Given the description of an element on the screen output the (x, y) to click on. 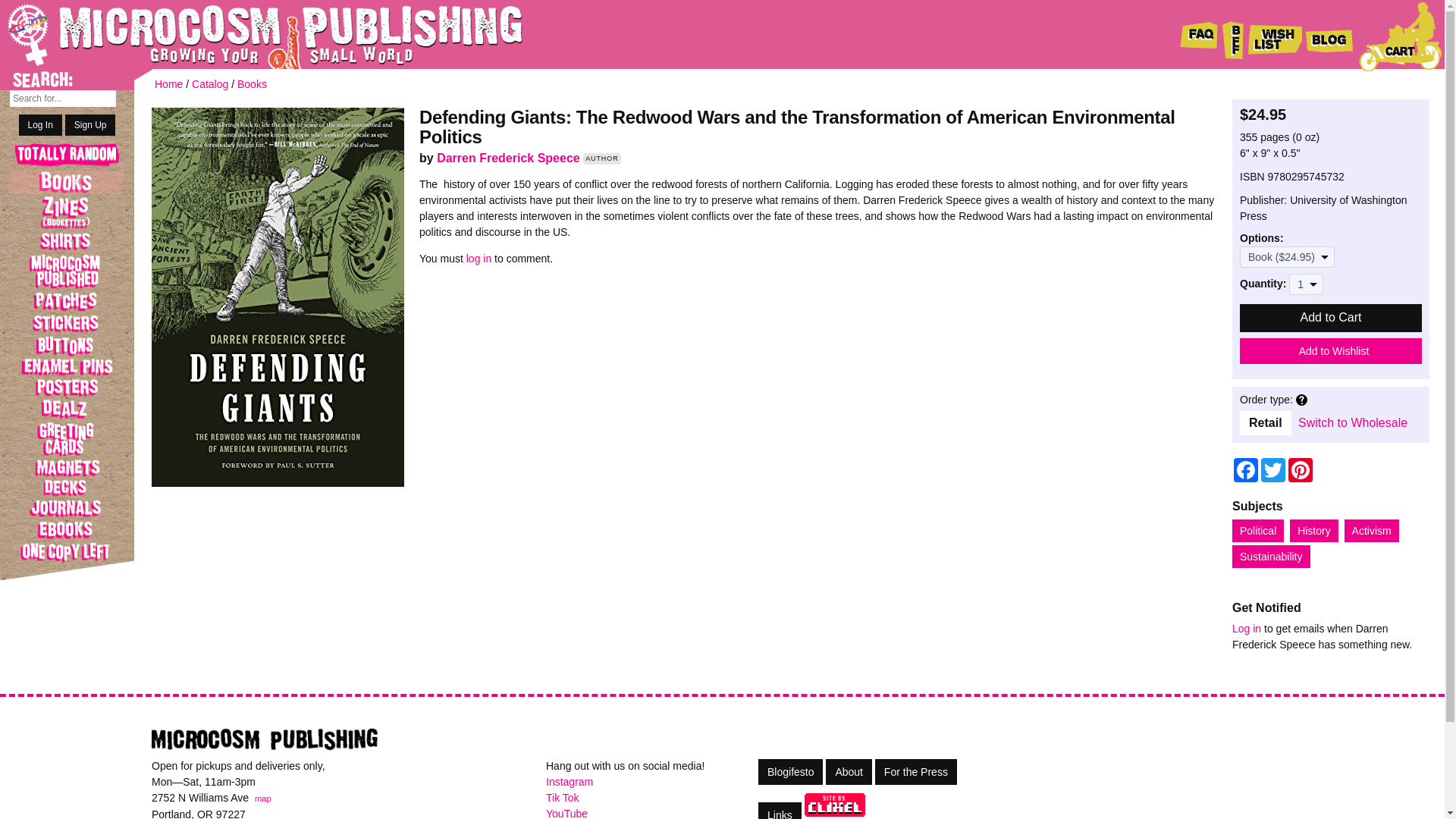
faq (1198, 36)
Totally Random (66, 156)
Jump to totally random title (66, 156)
Log In (40, 124)
Add to Cart (1331, 317)
Sign Up (90, 124)
wishlist (1274, 36)
Zines (66, 212)
back to Microcosm Publishing homepage (242, 34)
blog (1329, 36)
cart (1399, 36)
Shirts (66, 241)
bff (1232, 36)
Books (66, 181)
Add to Wishlist (1331, 350)
